Given the description of an element on the screen output the (x, y) to click on. 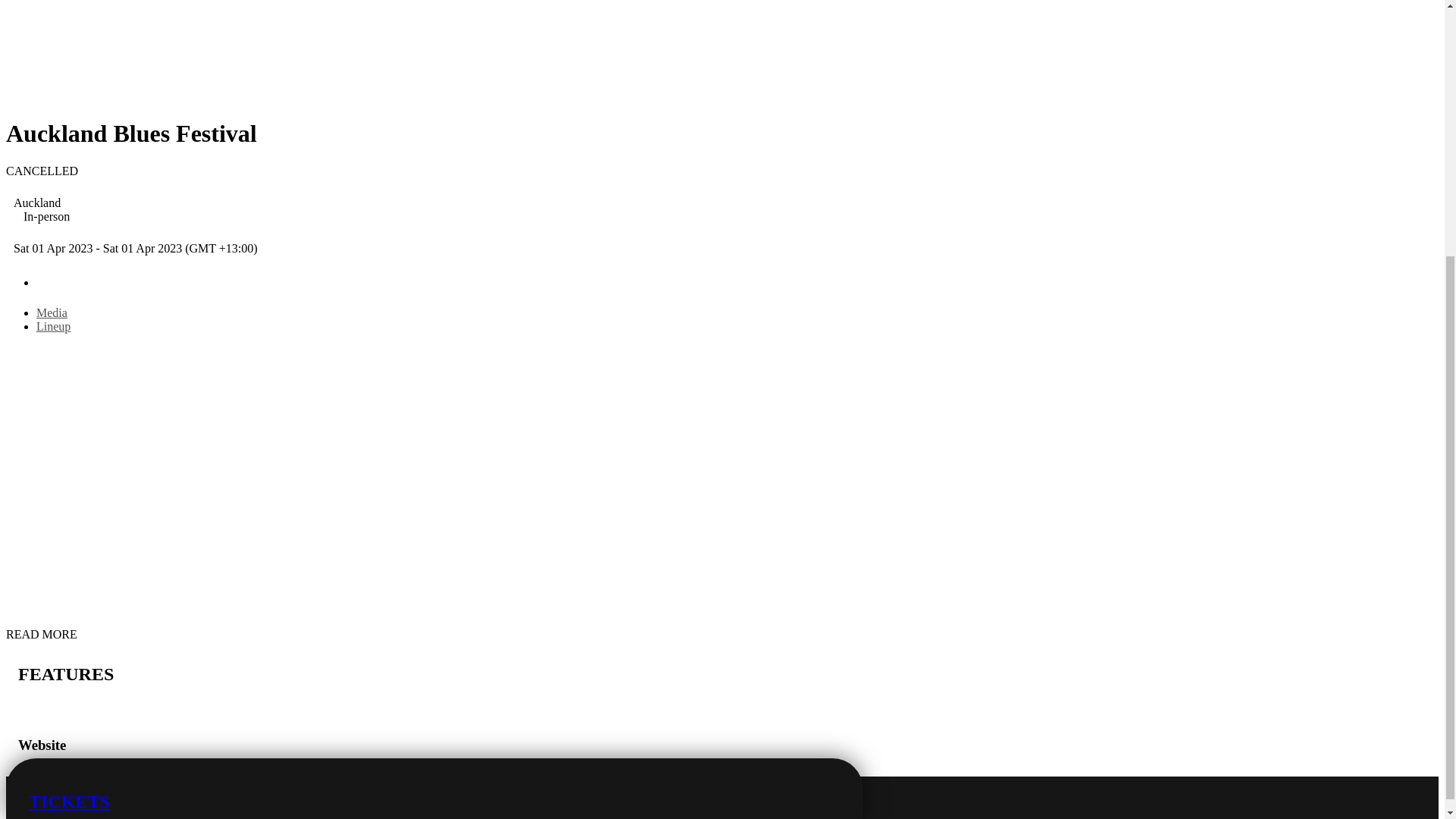
Media (51, 312)
About (426, 281)
TICKETS (434, 403)
Lineup (52, 326)
